Given the description of an element on the screen output the (x, y) to click on. 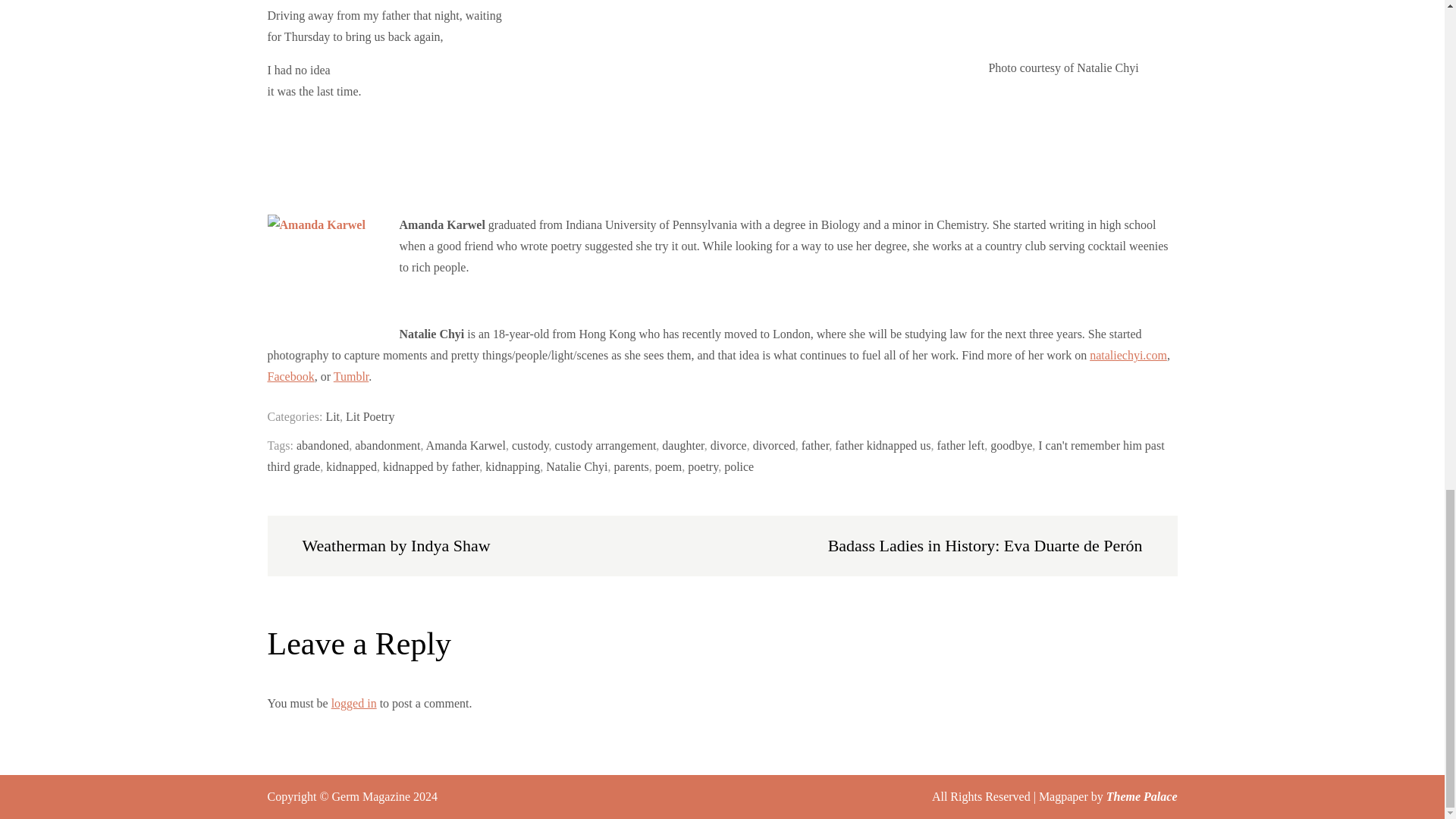
nataliechyi.com (1128, 354)
Facebook: Natalie Chyi Photography (290, 376)
nchyi.tumblr.com (351, 376)
